Given the description of an element on the screen output the (x, y) to click on. 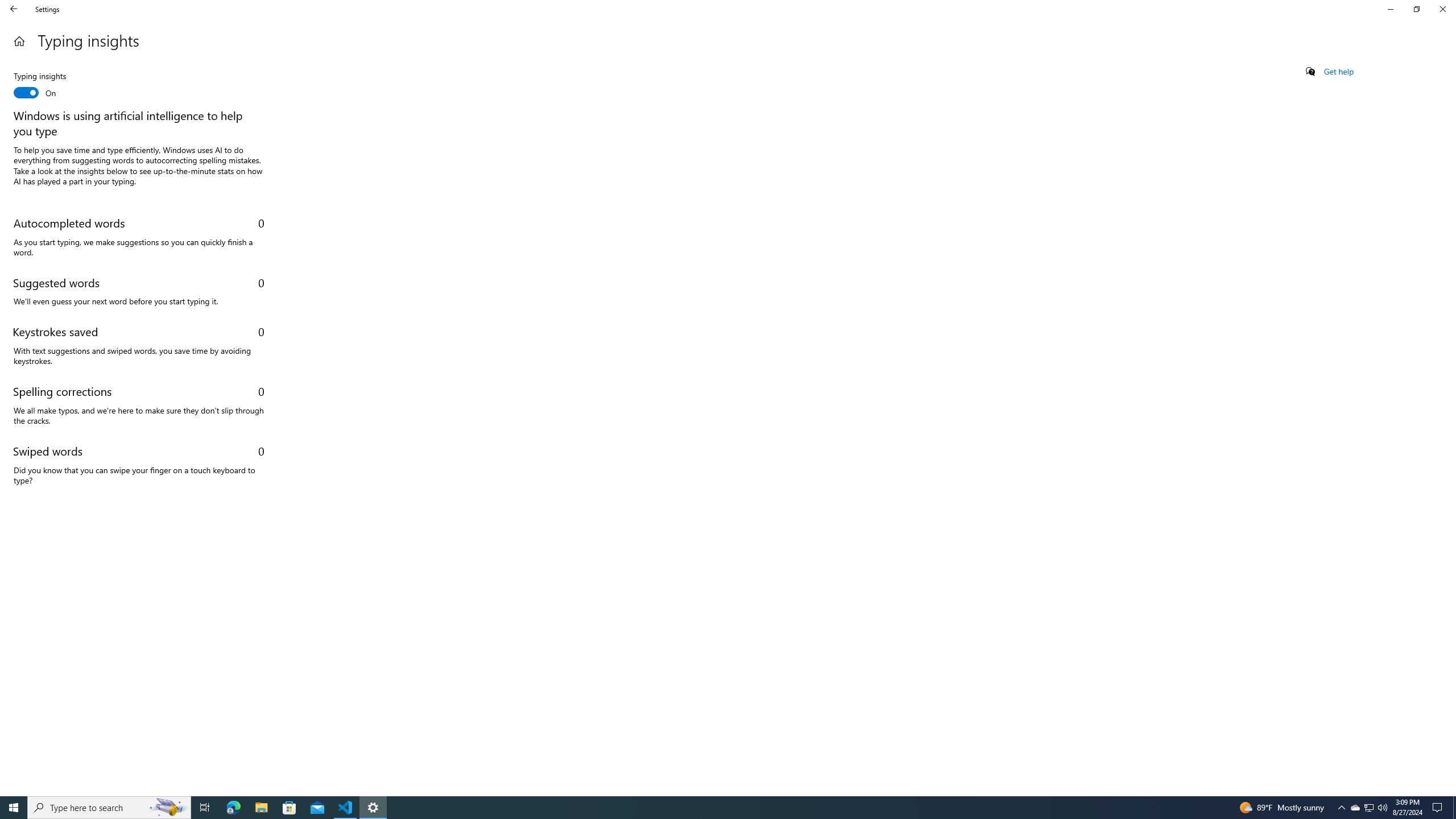
Home (19, 40)
Close Settings (1442, 9)
Typing insights (55, 85)
